Given the description of an element on the screen output the (x, y) to click on. 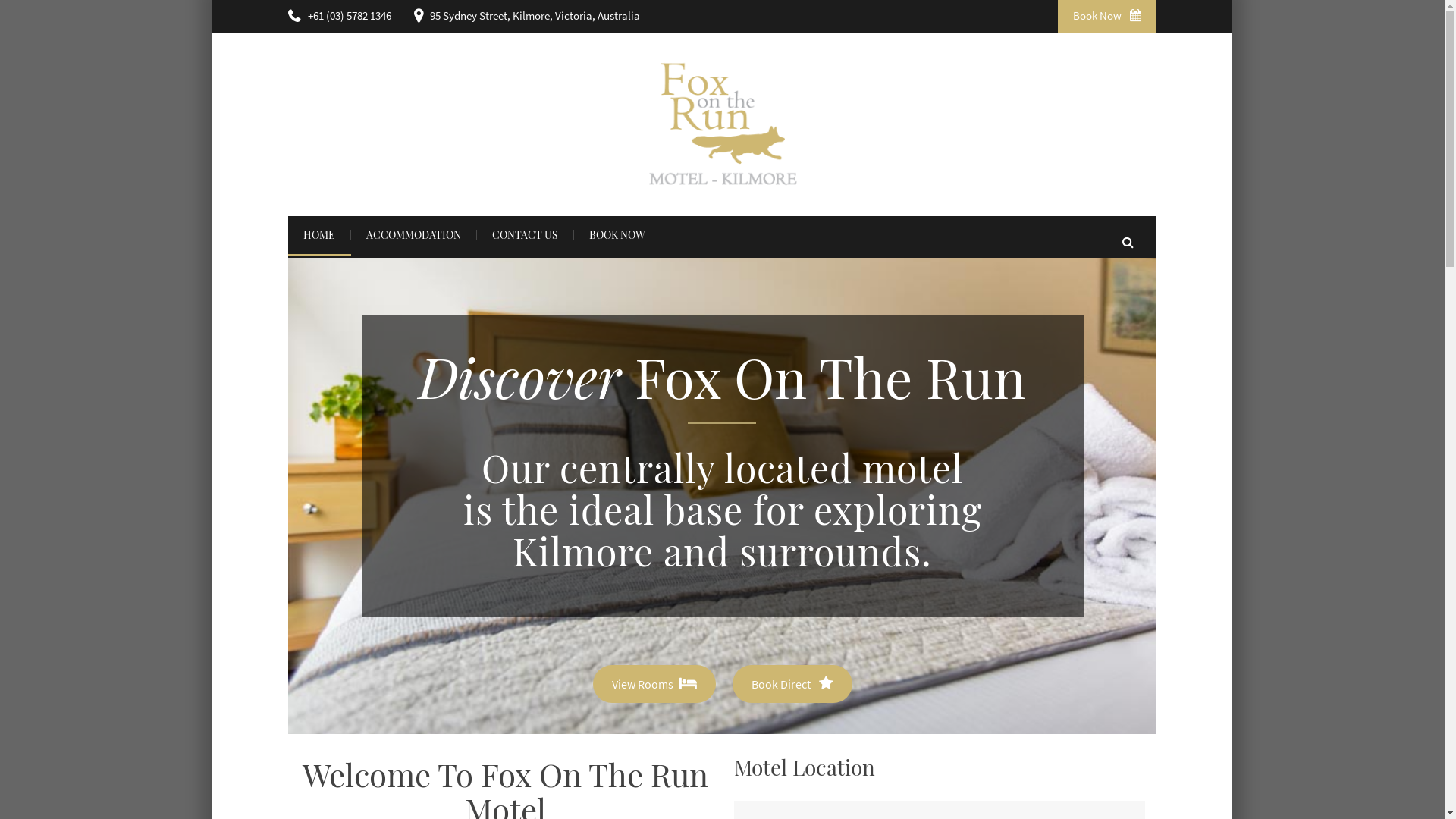
ACCOMMODATION Element type: text (413, 236)
BOOK NOW Element type: text (617, 236)
Book Now Element type: text (1106, 16)
HOME Element type: text (319, 236)
CONTACT US Element type: text (525, 236)
